Given the description of an element on the screen output the (x, y) to click on. 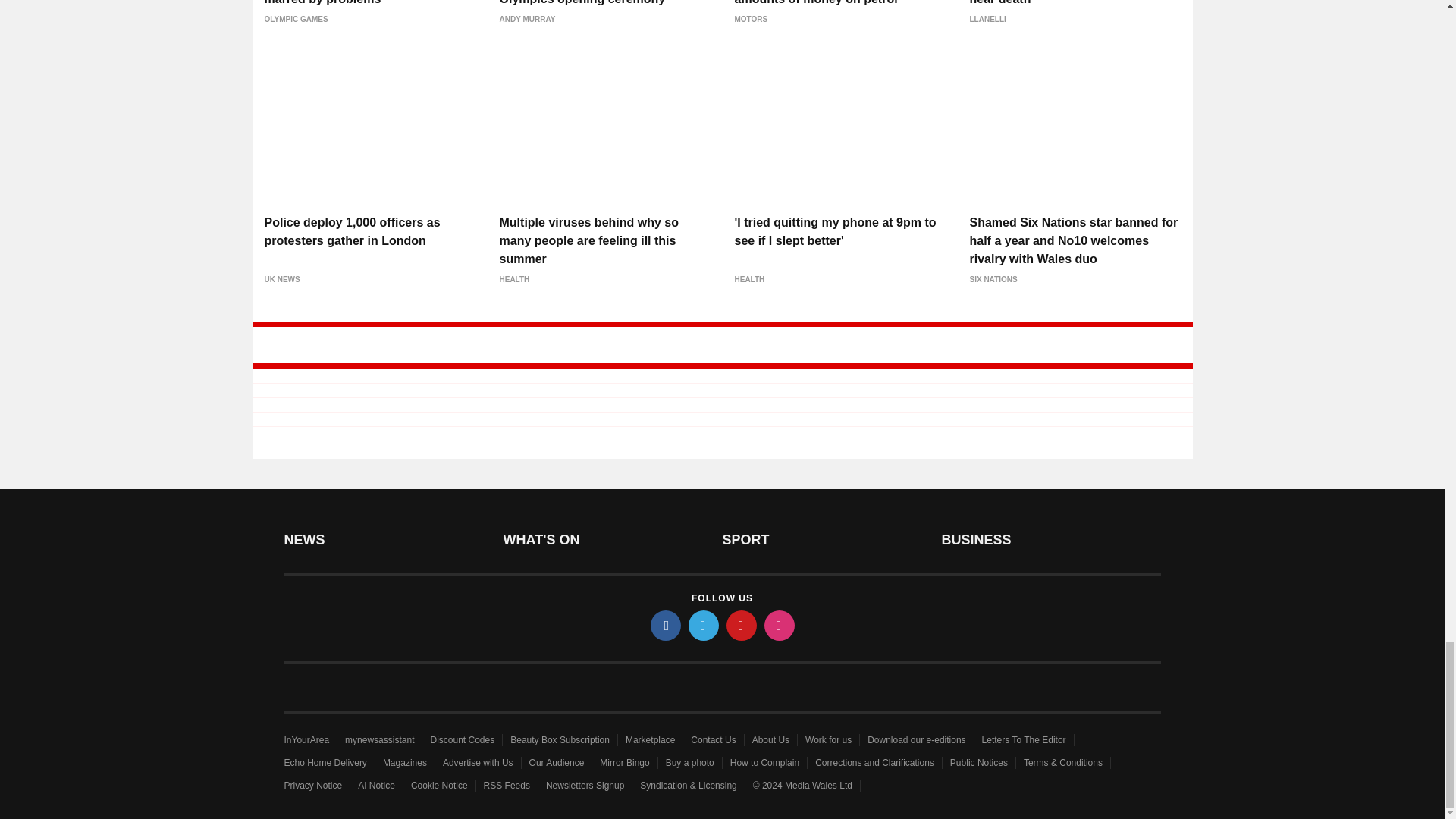
twitter (703, 625)
pinterest (741, 625)
facebook (665, 625)
instagram (779, 625)
